Given the description of an element on the screen output the (x, y) to click on. 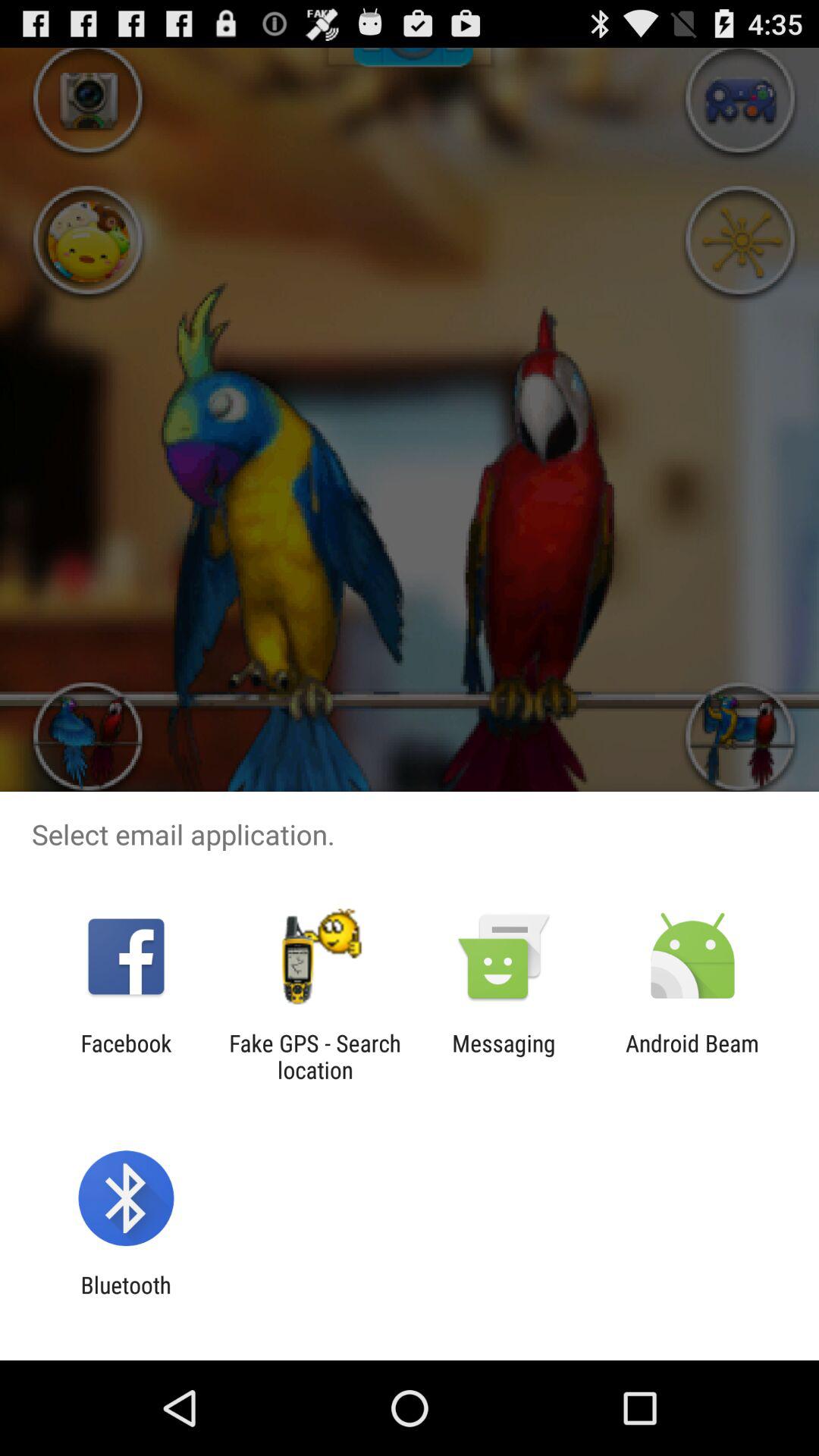
choose item to the right of the messaging item (692, 1056)
